Given the description of an element on the screen output the (x, y) to click on. 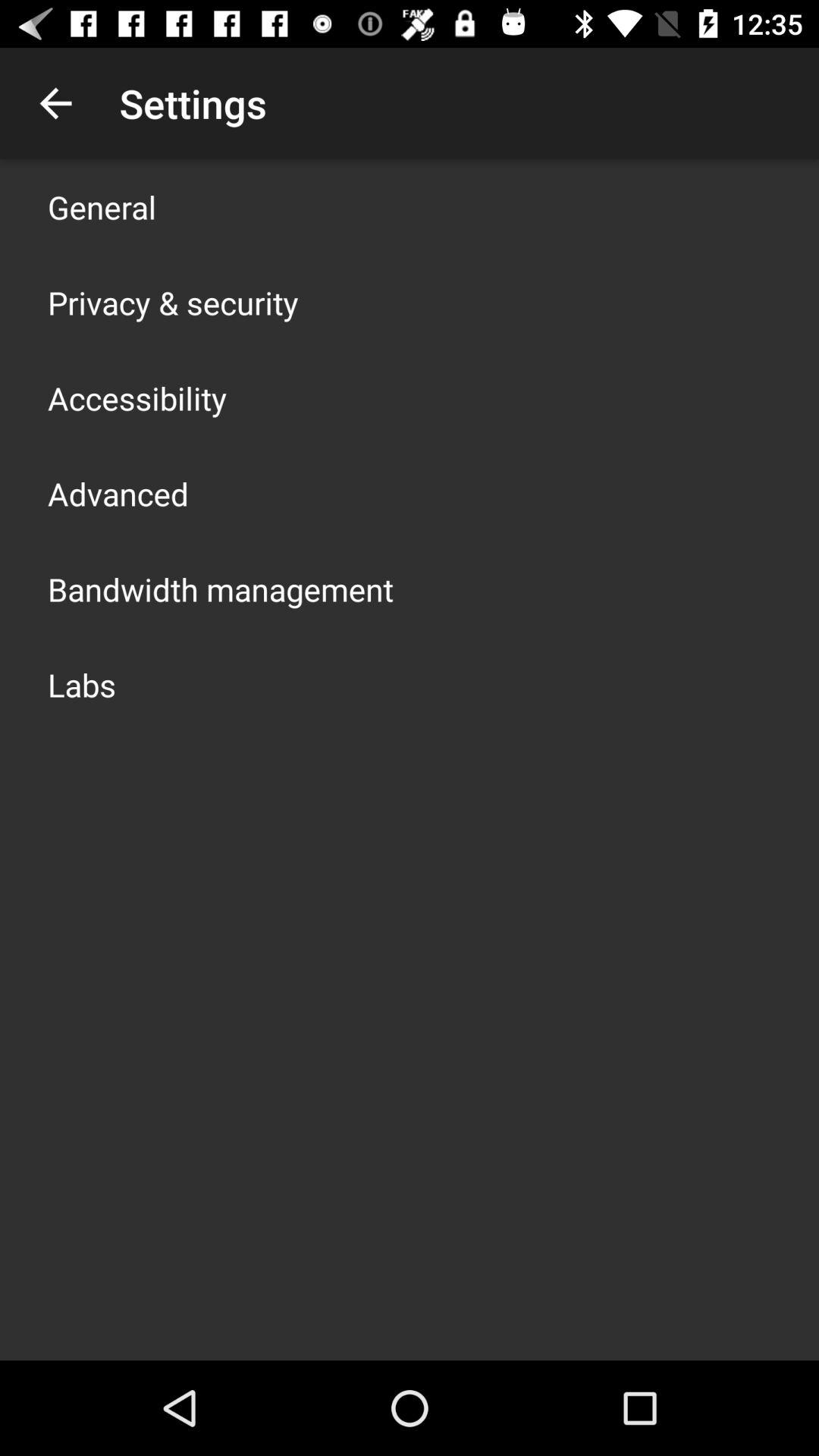
click the item above the advanced item (136, 397)
